Given the description of an element on the screen output the (x, y) to click on. 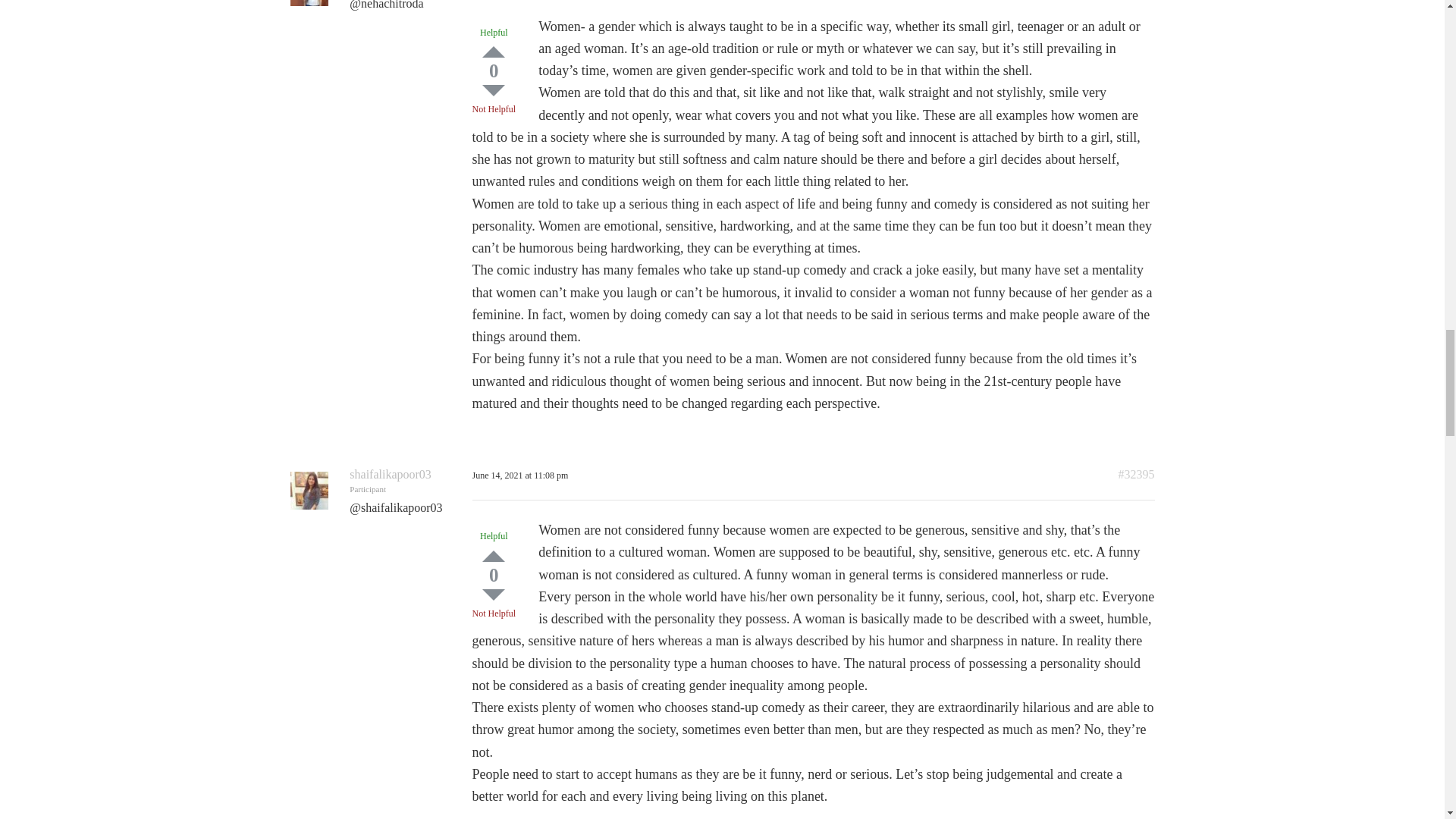
View shaifalikapoor03's profile (389, 473)
